Given the description of an element on the screen output the (x, y) to click on. 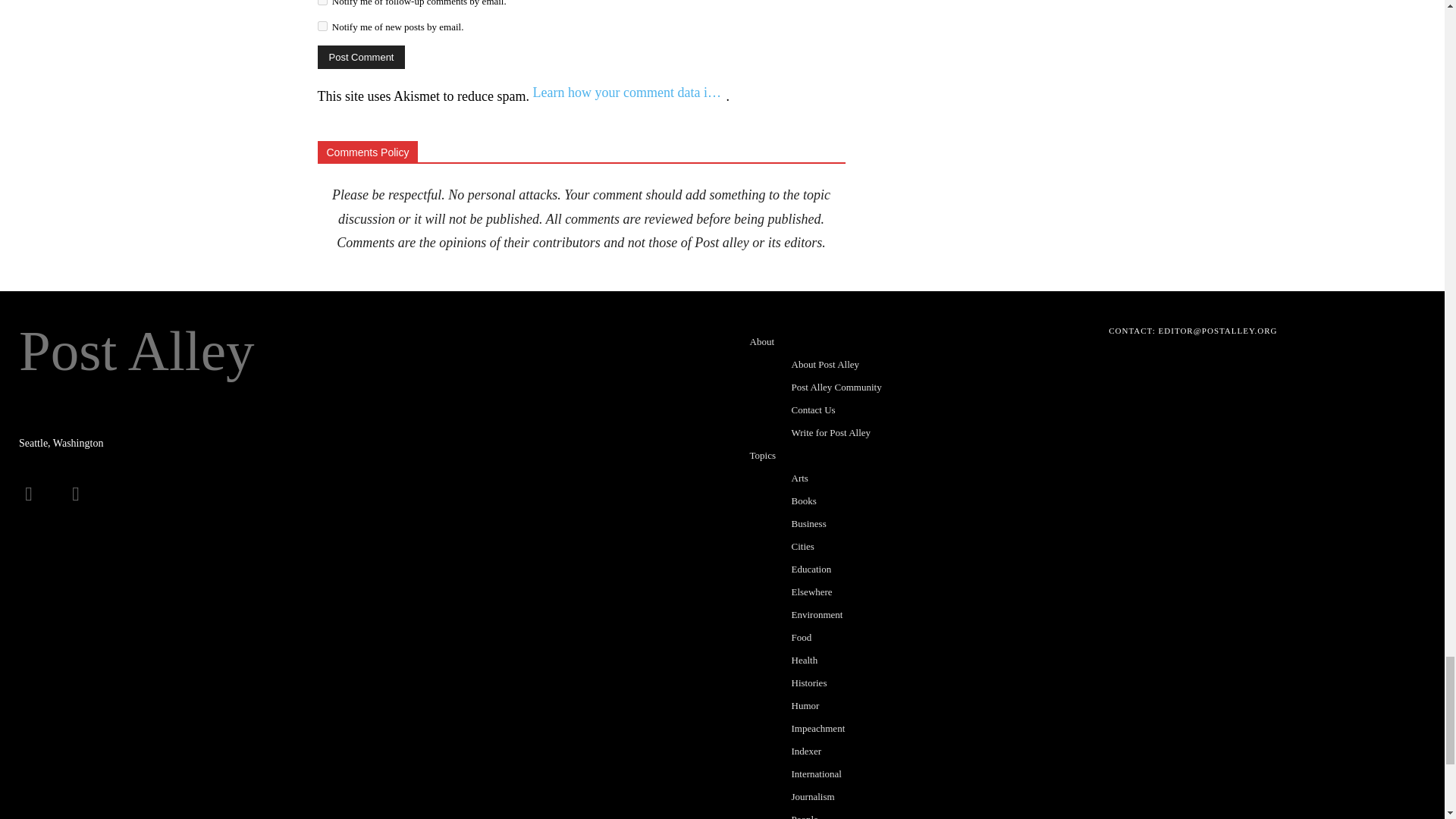
subscribe (321, 2)
subscribe (321, 26)
Post Comment (360, 56)
